Given the description of an element on the screen output the (x, y) to click on. 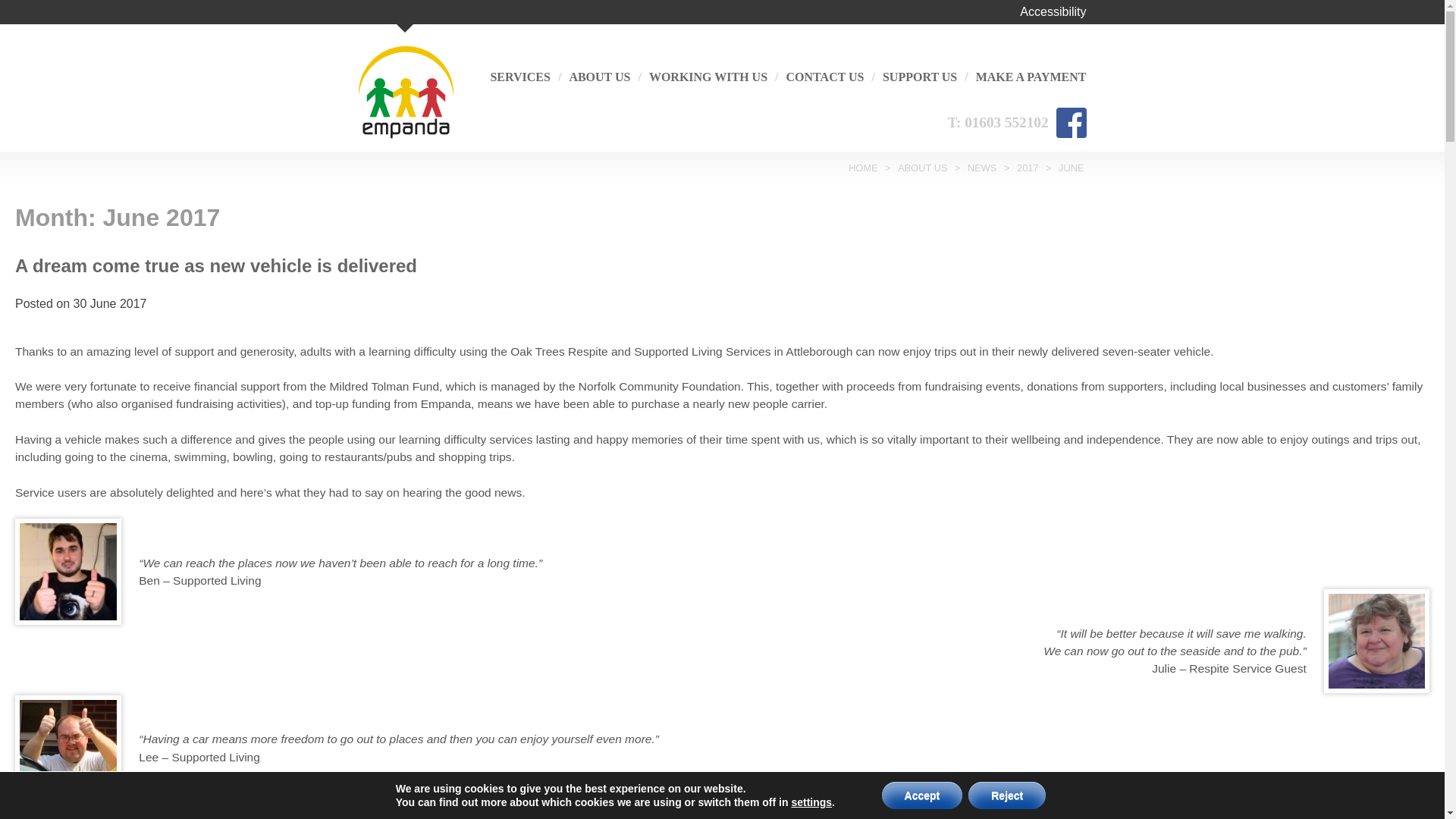
2017 (1027, 167)
ABOUT US (922, 167)
WORKING WITH US (708, 77)
Go to home page. (862, 167)
Accessibility (1053, 11)
HOME (862, 167)
MAKE A PAYMENT (1030, 77)
SERVICES (519, 77)
A dream come true as new vehicle is delivered (215, 265)
T: 01603 552102 (997, 122)
NEWS (981, 167)
Go to the 2017 archives. (1027, 167)
Go to News. (981, 167)
CONTACT US (825, 77)
